Given the description of an element on the screen output the (x, y) to click on. 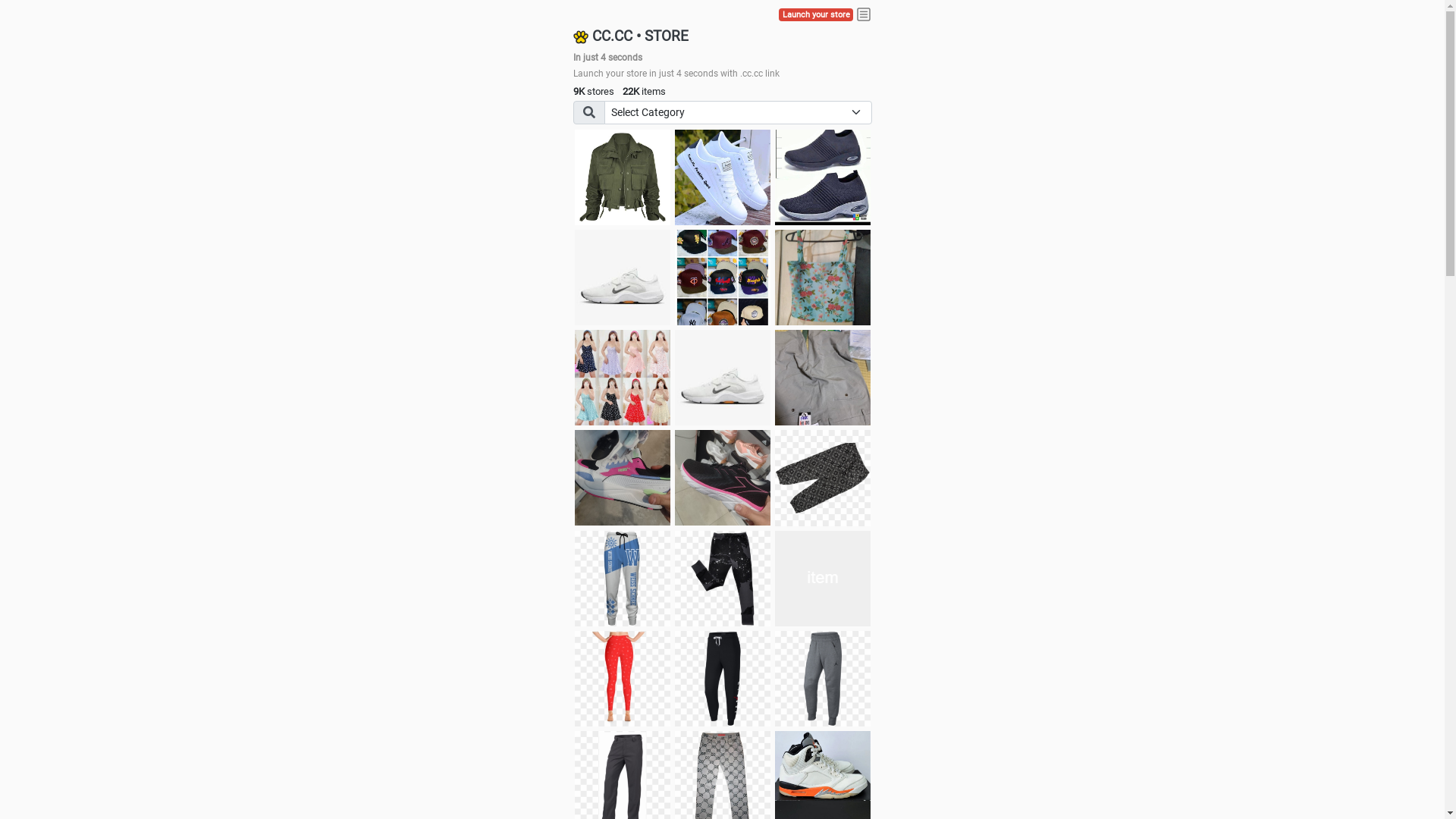
Shoes Element type: hover (722, 377)
Pant Element type: hover (622, 578)
Pant Element type: hover (722, 678)
Pant Element type: hover (722, 578)
jacket Element type: hover (622, 177)
shoes for boys Element type: hover (822, 177)
Shoes for boys Element type: hover (622, 277)
Pant Element type: hover (822, 578)
Pant Element type: hover (822, 678)
Launch your store Element type: text (815, 14)
Zapatillas Element type: hover (722, 477)
white shoes Element type: hover (722, 177)
Things we need Element type: hover (722, 277)
Dress/square nect top Element type: hover (622, 377)
Short pant Element type: hover (822, 477)
Ukay cloth Element type: hover (822, 277)
Zapatillas pumas Element type: hover (622, 477)
Pant Element type: hover (622, 678)
